Given the description of an element on the screen output the (x, y) to click on. 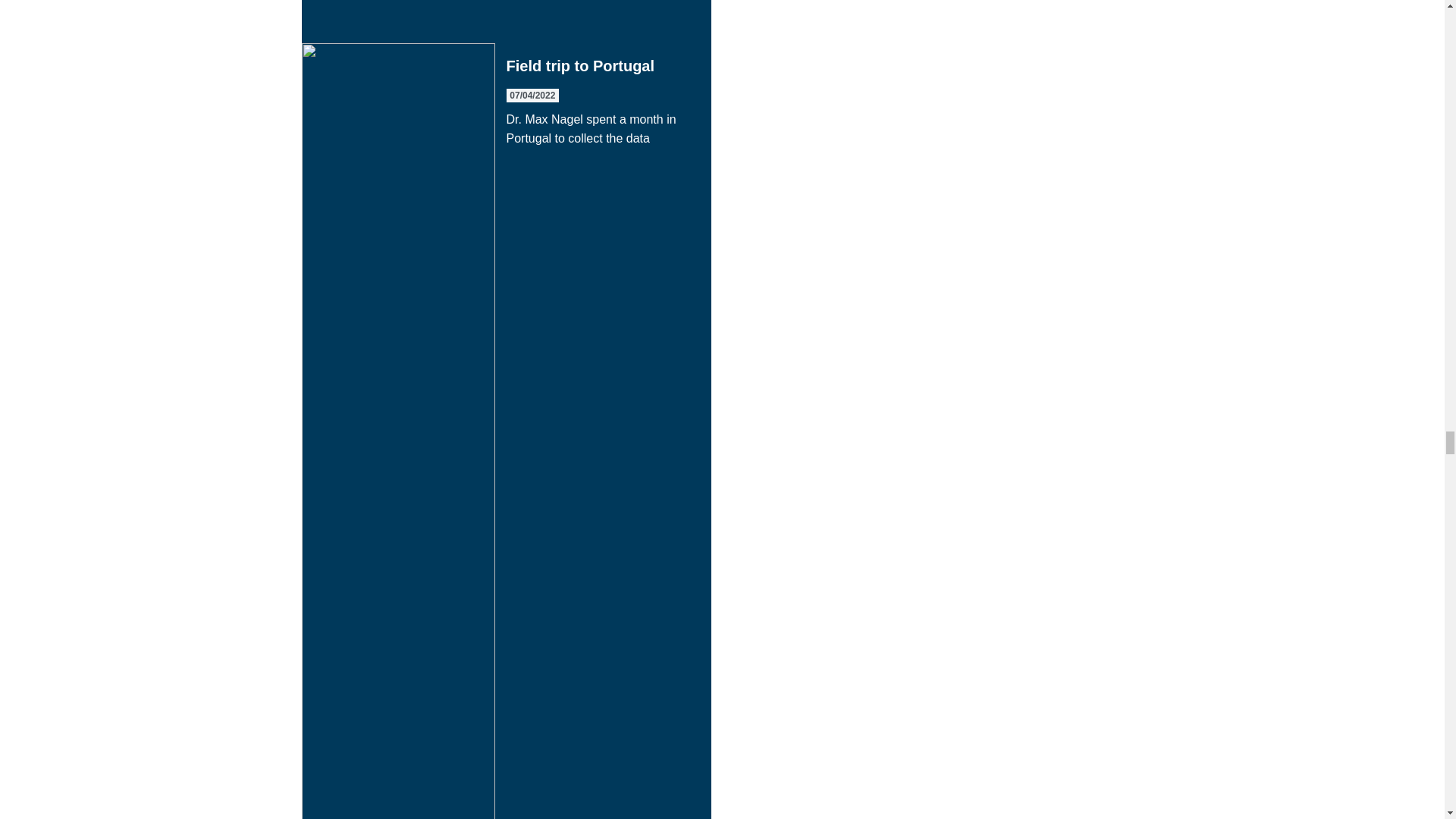
Field trip to Brussel (506, 21)
